Given the description of an element on the screen output the (x, y) to click on. 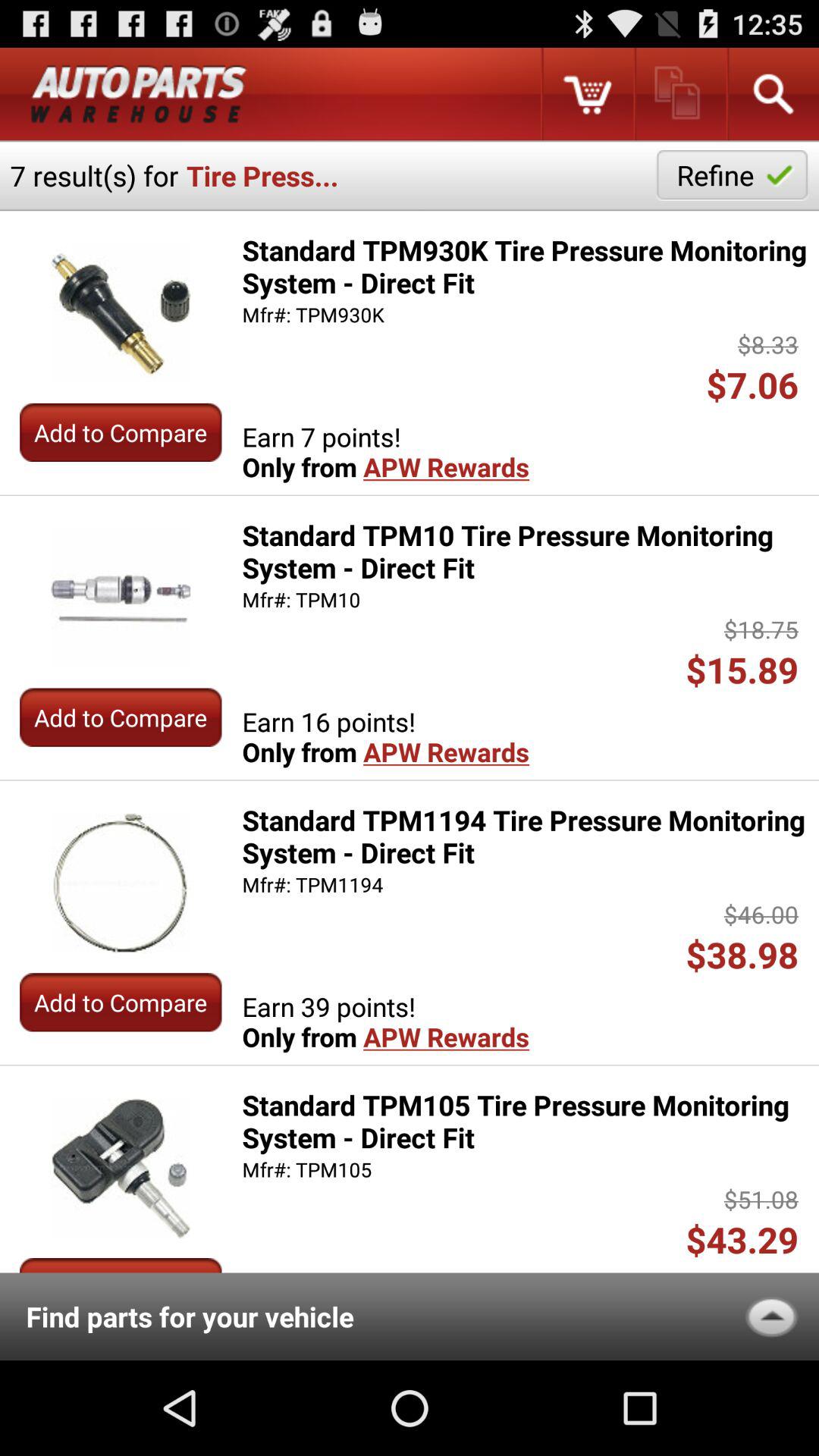
open cart (586, 93)
